Given the description of an element on the screen output the (x, y) to click on. 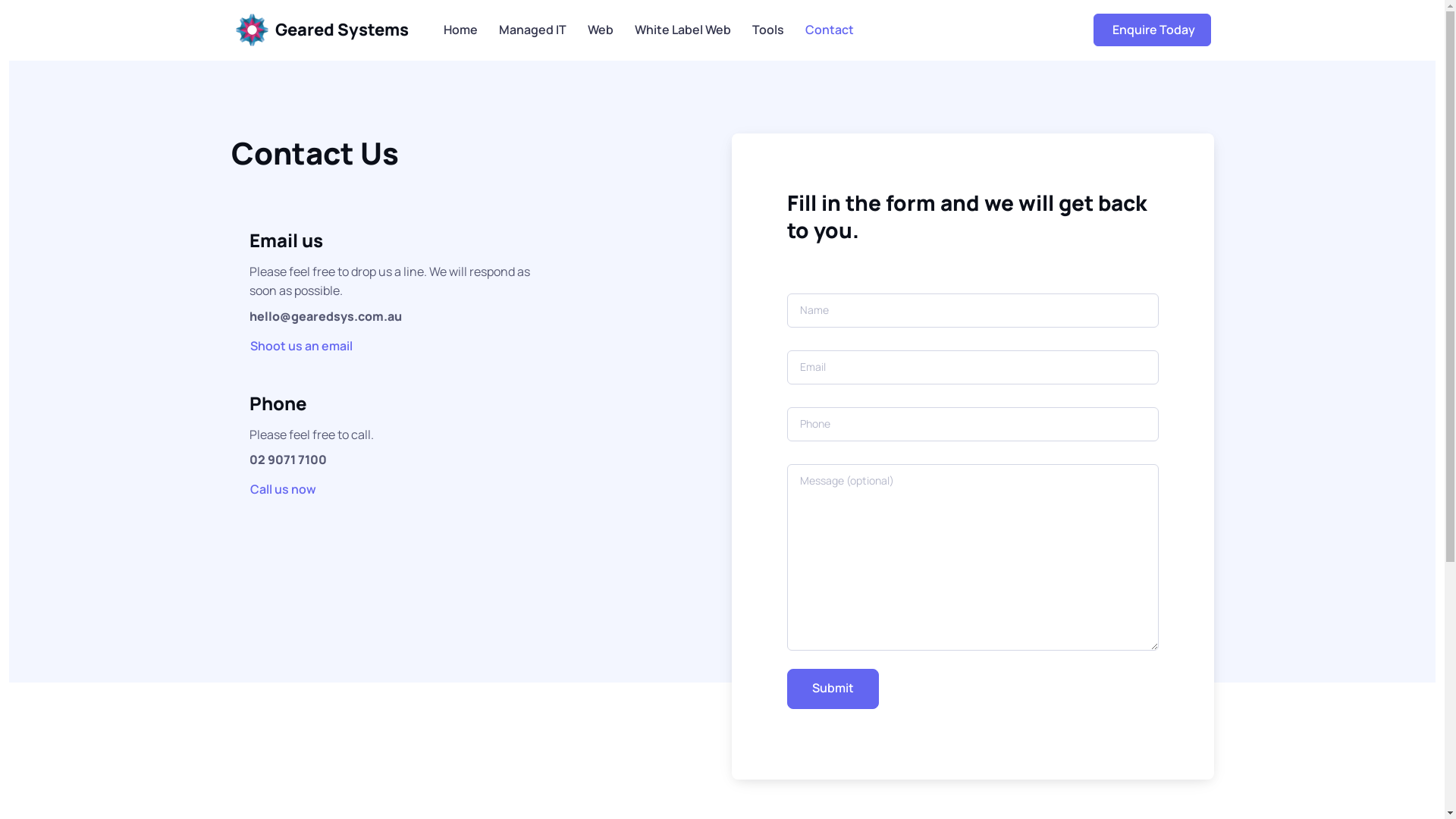
Web Element type: text (599, 29)
Shoot us an email Element type: text (303, 344)
Tools Element type: text (767, 29)
Geared Systems Element type: text (326, 29)
Call us now Element type: text (285, 488)
Enquire Today Element type: text (1152, 29)
Managed IT Element type: text (532, 29)
Contact Element type: text (829, 29)
Home Element type: text (459, 29)
Submit Element type: text (832, 688)
White Label Web Element type: text (681, 29)
